Given the description of an element on the screen output the (x, y) to click on. 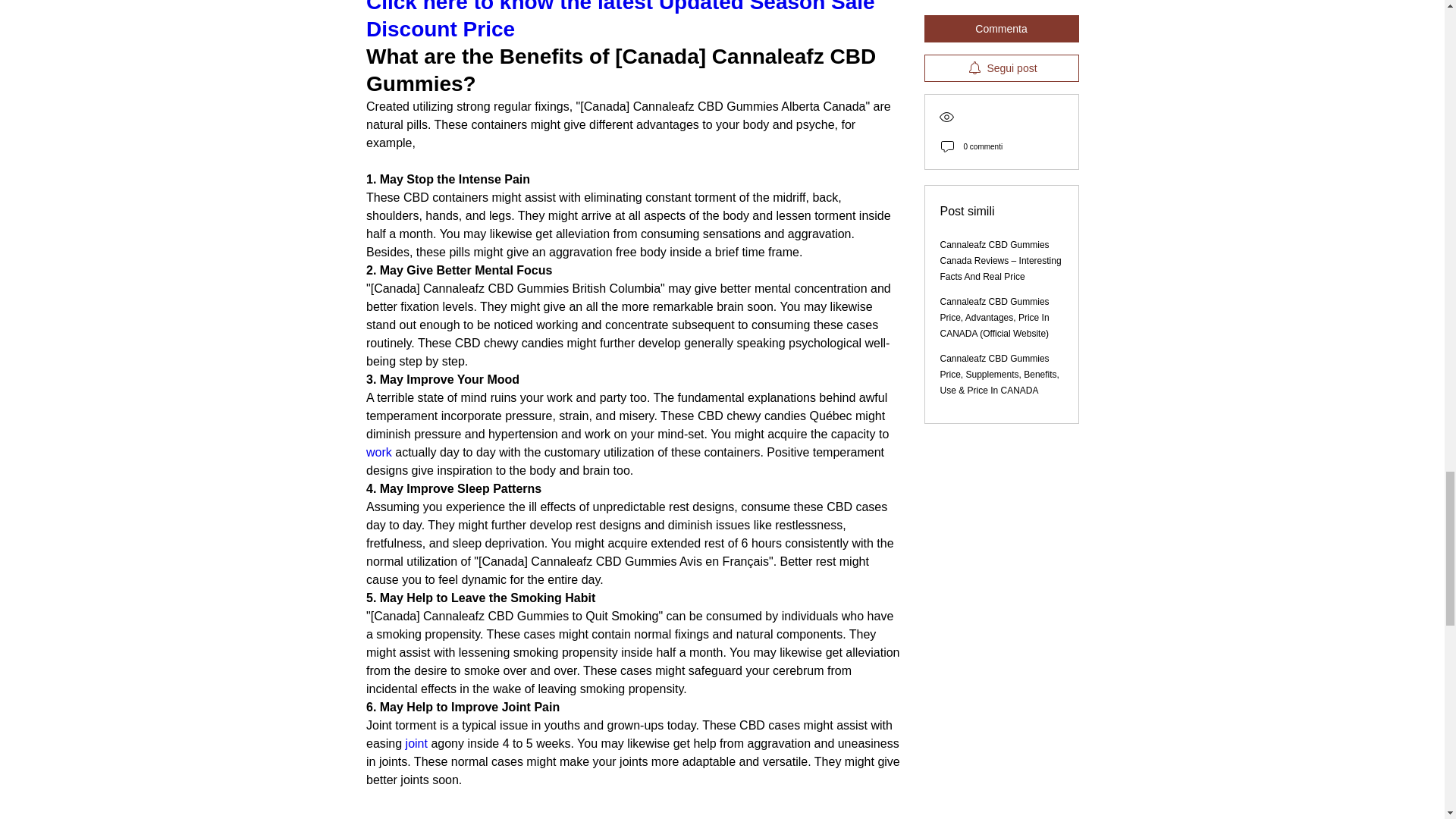
work  (379, 451)
joint  (417, 743)
